Given the description of an element on the screen output the (x, y) to click on. 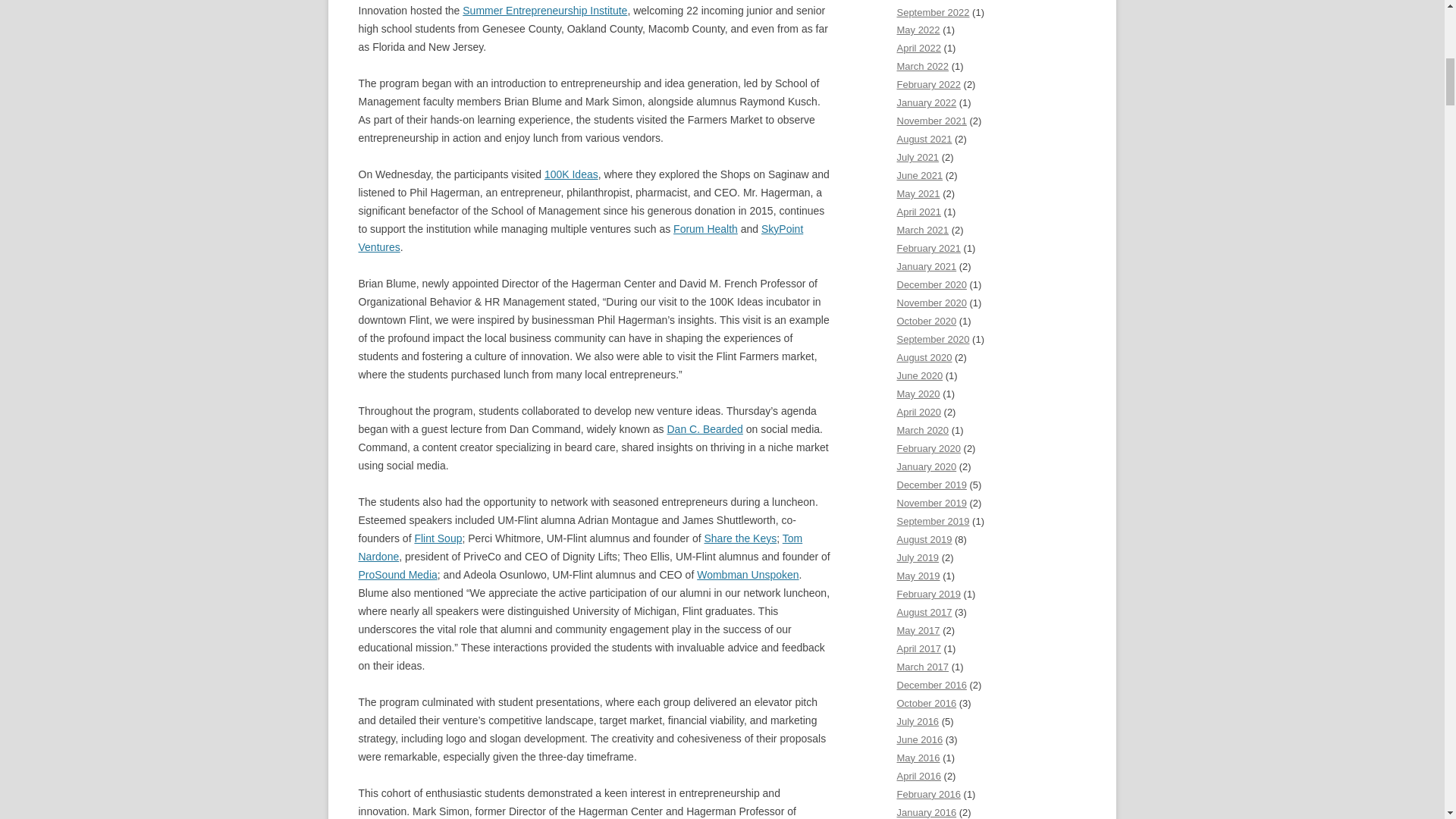
Tom Nardone (580, 547)
Share the Keys (739, 538)
Forum Health (705, 228)
Wombman Unspoken (747, 574)
Dan C. Bearded (704, 428)
100K Ideas (571, 174)
ProSound Media (397, 574)
SkyPoint Ventures (580, 237)
Summer Entrepreneurship Institute (545, 10)
Flint Soup (437, 538)
